Given the description of an element on the screen output the (x, y) to click on. 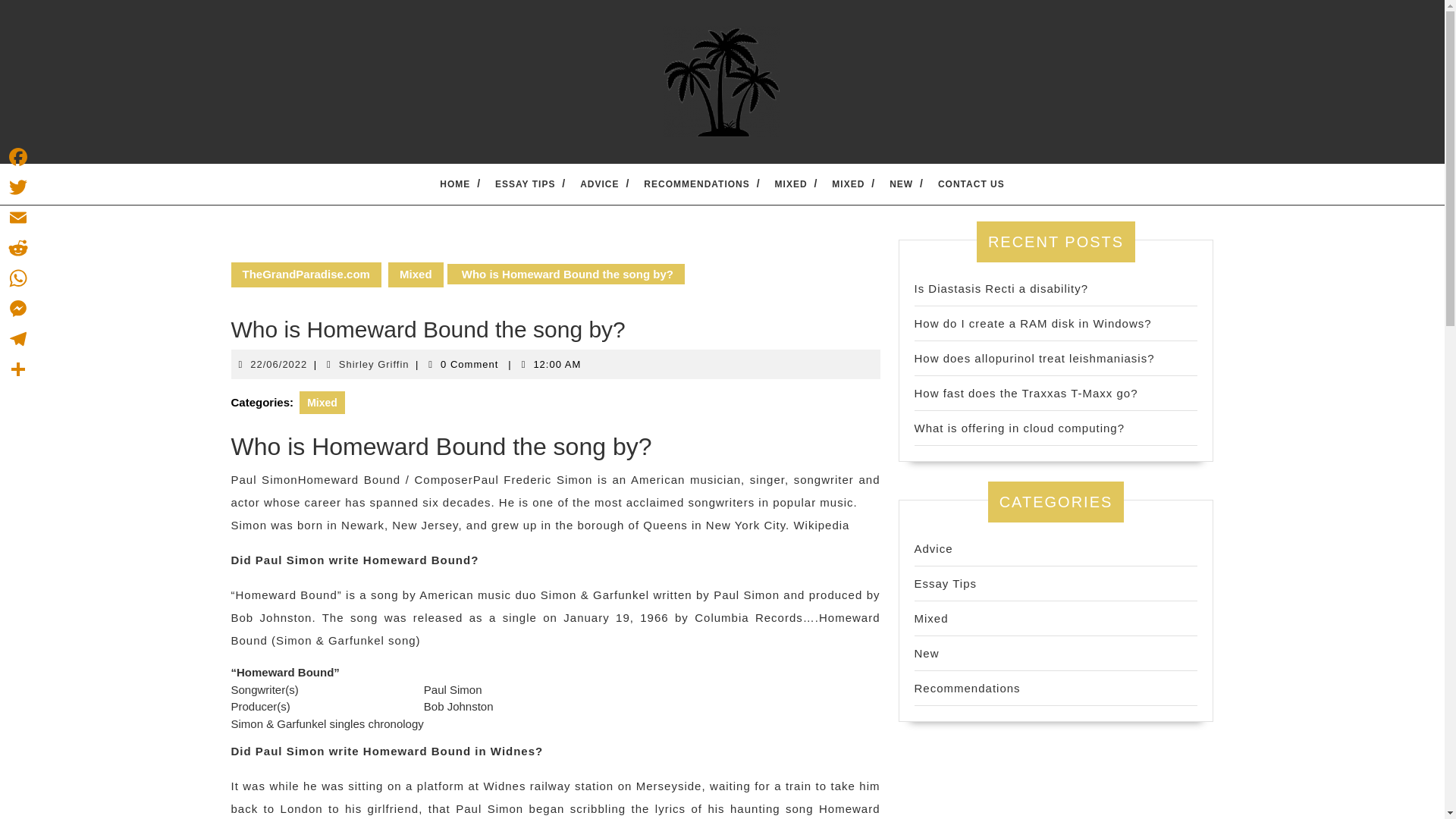
MIXED (790, 183)
Mixed (416, 274)
RECOMMENDATIONS (696, 183)
Is Diastasis Recti a disability? (1001, 287)
Recommendations (967, 687)
Email (374, 363)
MIXED (17, 217)
TheGrandParadise.com (847, 183)
Facebook (305, 274)
